Given the description of an element on the screen output the (x, y) to click on. 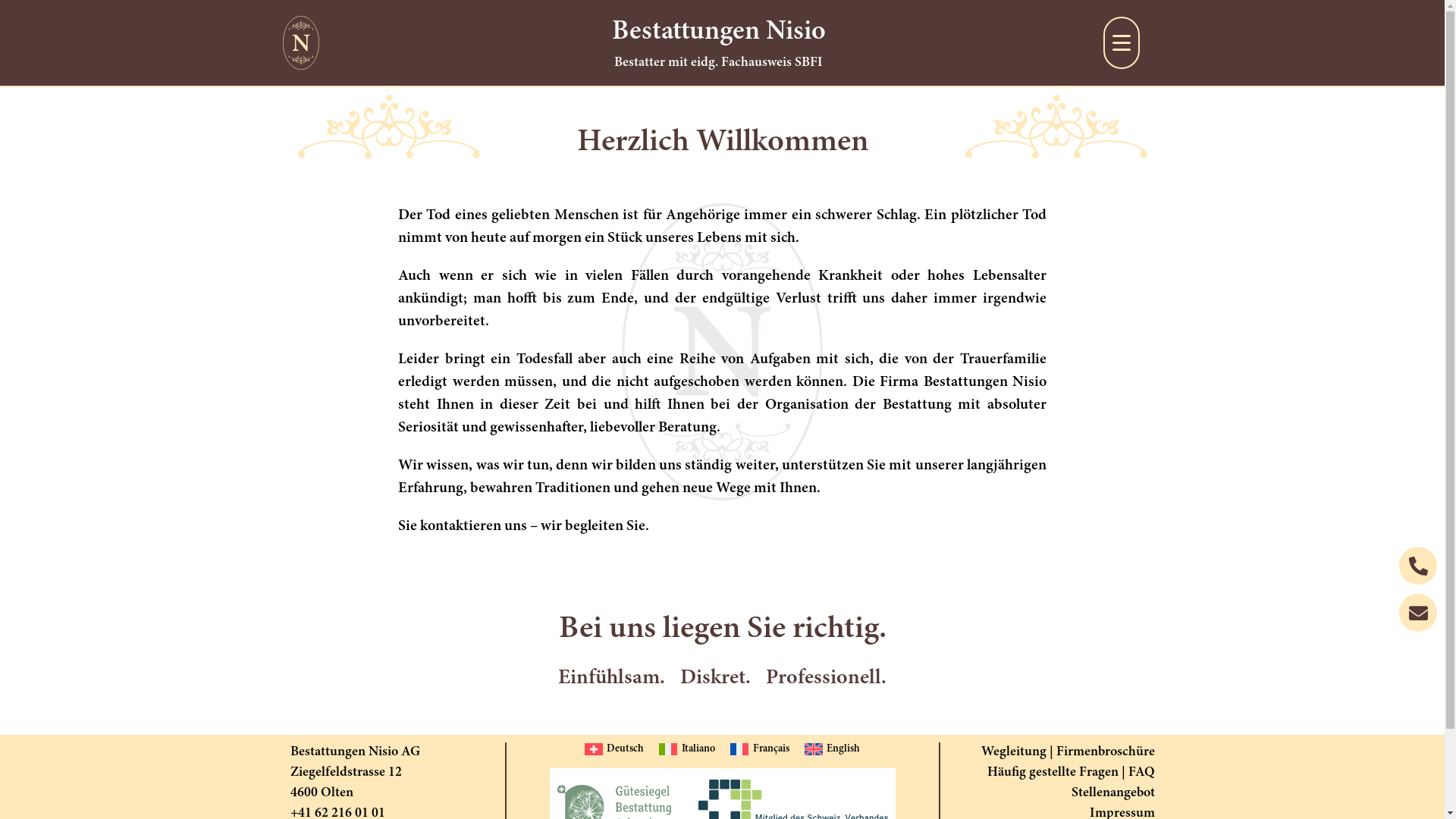
Italiano Element type: text (686, 749)
English Element type: text (832, 749)
Todesfall Element type: text (544, 359)
Sie kontaktieren uns Element type: text (462, 525)
wir Element type: text (550, 525)
Stellenangebot Element type: text (1112, 793)
Deutsch Element type: text (614, 749)
